Given the description of an element on the screen output the (x, y) to click on. 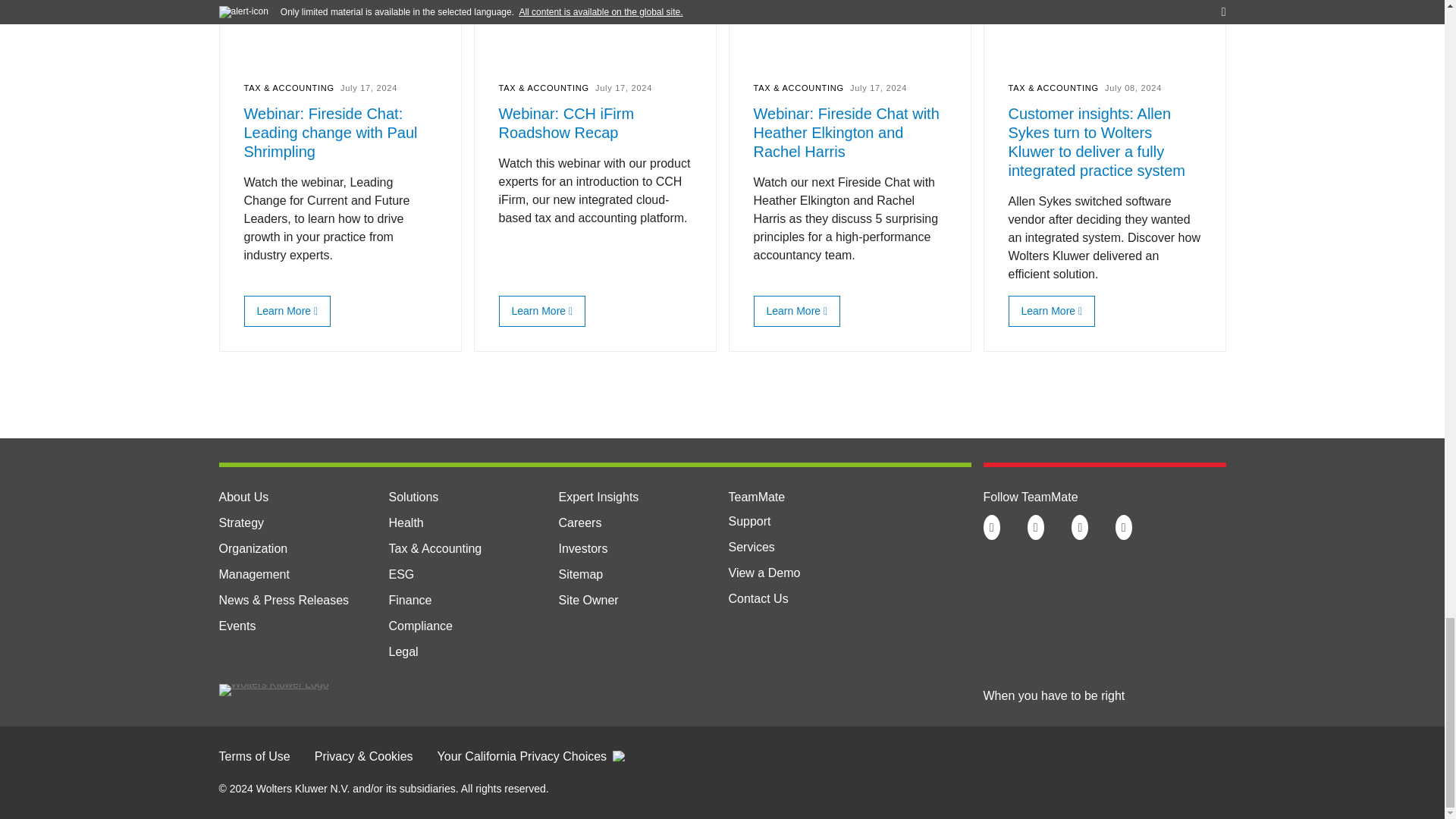
Webinar: Fireside Chat: Leading change with Paul Shrimpling (283, 310)
Site Owner (587, 599)
Webinar: CCH iFirm Roadshow Recap (538, 310)
Wolters Kluwer Logo (273, 684)
ESG (400, 574)
WK Logo (273, 689)
